Given the description of an element on the screen output the (x, y) to click on. 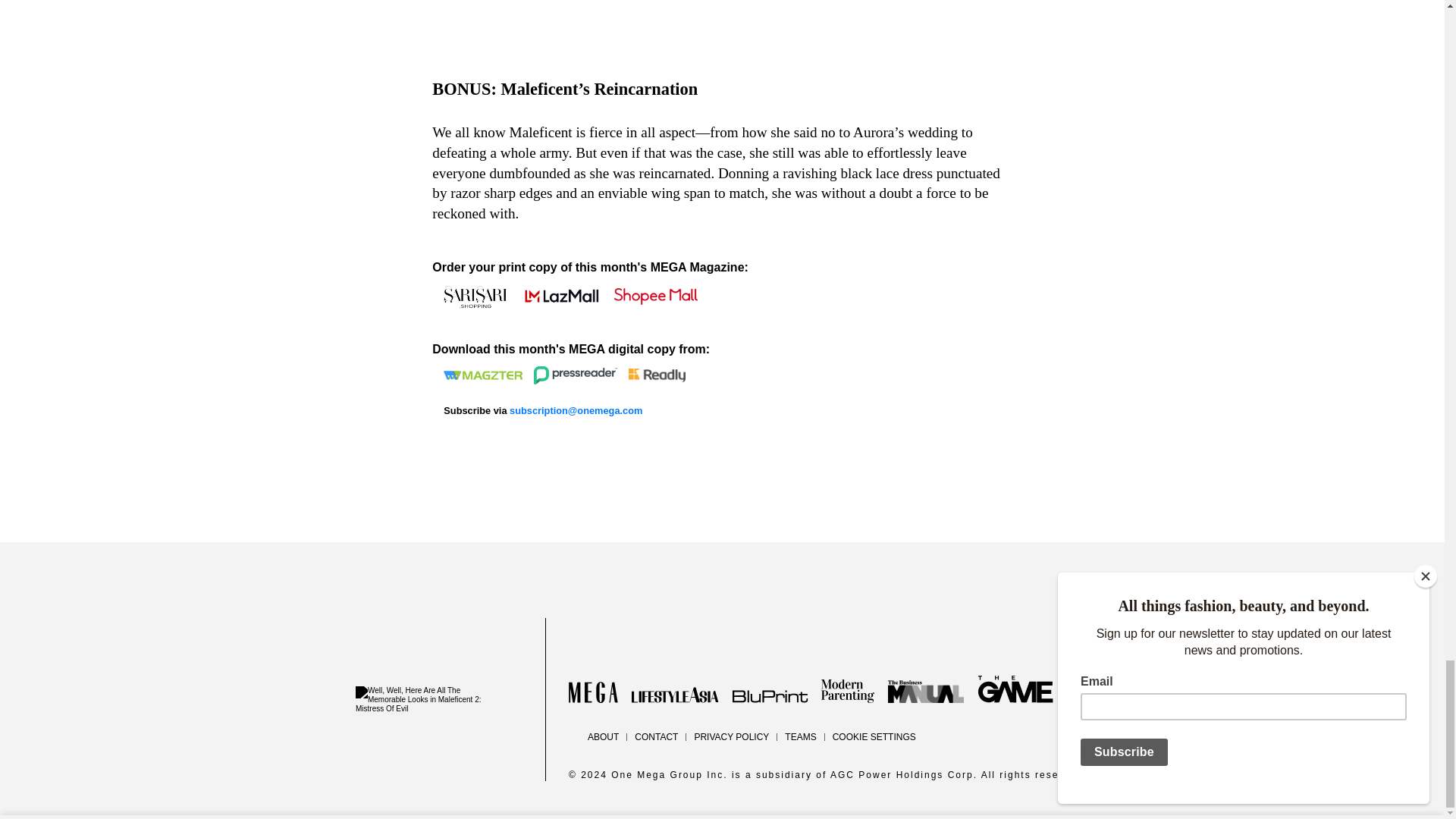
Lazada (560, 296)
Subscribe now! (575, 410)
Readly (656, 374)
Magzter (483, 375)
Sari Sari Shopping (476, 297)
Shopee (655, 296)
Press Reader (575, 375)
